Given the description of an element on the screen output the (x, y) to click on. 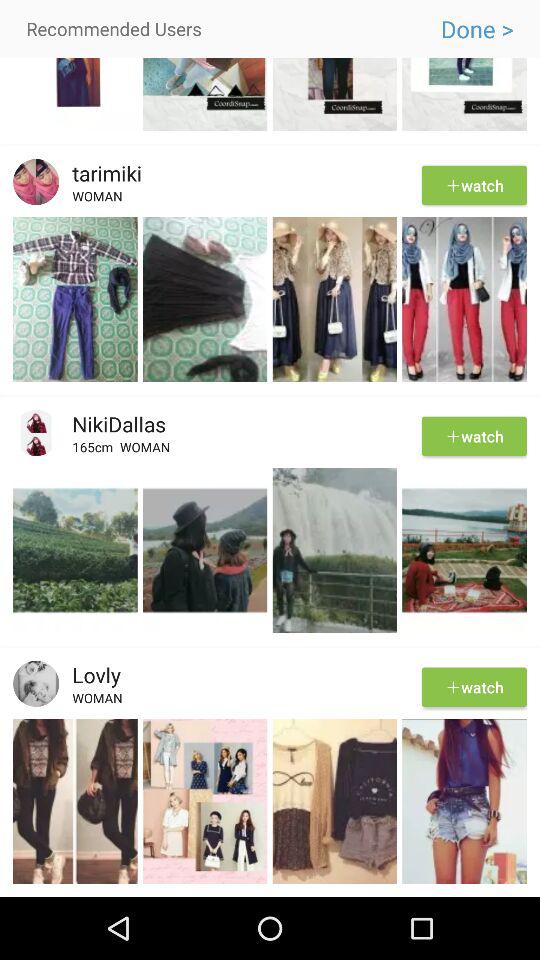
turn on icon below 165cm icon (269, 465)
